Given the description of an element on the screen output the (x, y) to click on. 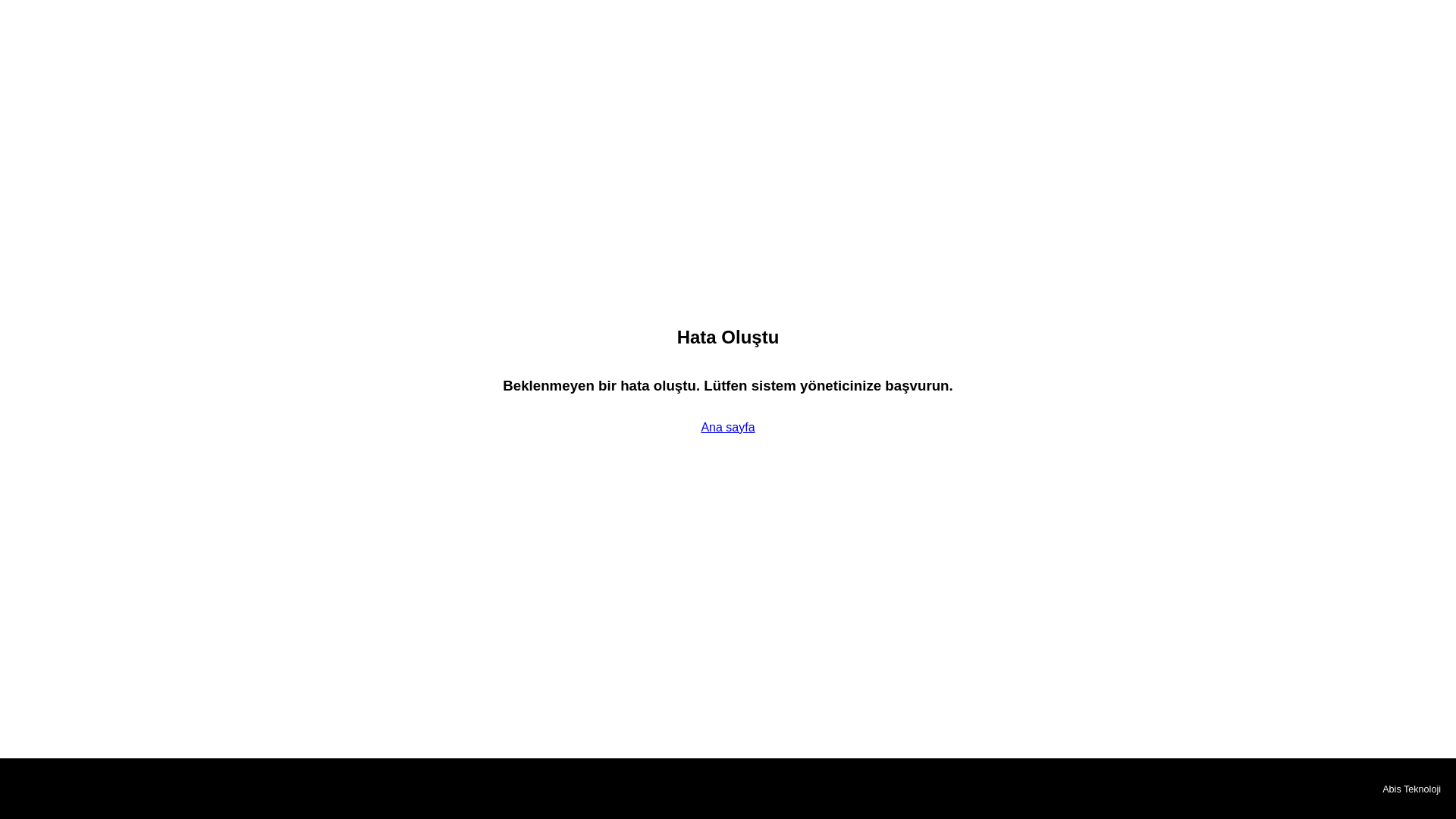
Abis Teknoloji (1411, 788)
Ana sayfa (727, 427)
